Given the description of an element on the screen output the (x, y) to click on. 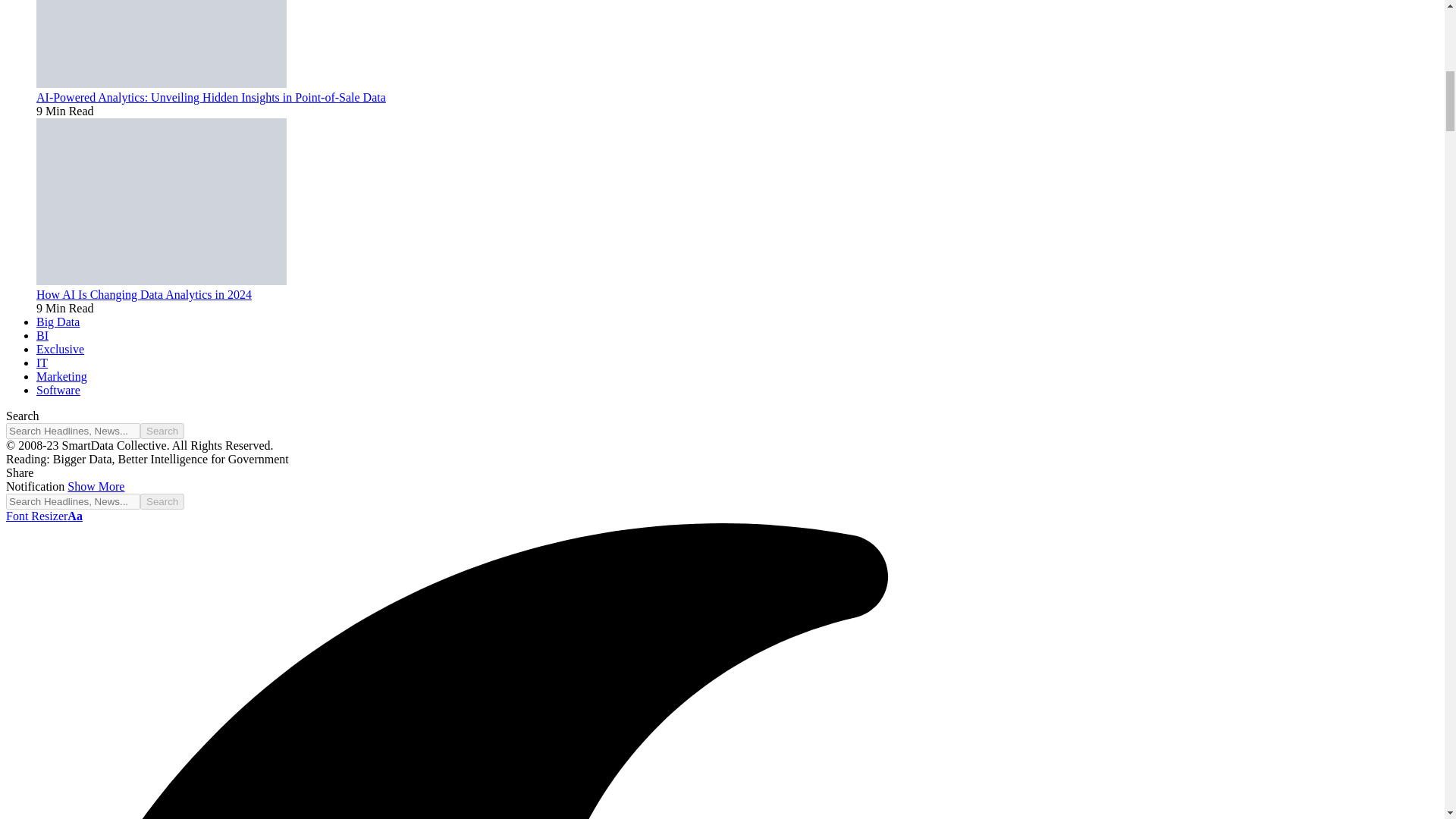
Show More (94, 486)
Software (58, 390)
Exclusive (60, 349)
BI (42, 335)
How AI Is Changing Data Analytics in 2024 (161, 280)
Font ResizerAa (43, 515)
Search (161, 501)
Business Intelligence (42, 335)
Marketing (61, 376)
How AI Is Changing Data Analytics in 2024 (143, 294)
Search (161, 430)
Big Data (58, 321)
Search (161, 501)
